Given the description of an element on the screen output the (x, y) to click on. 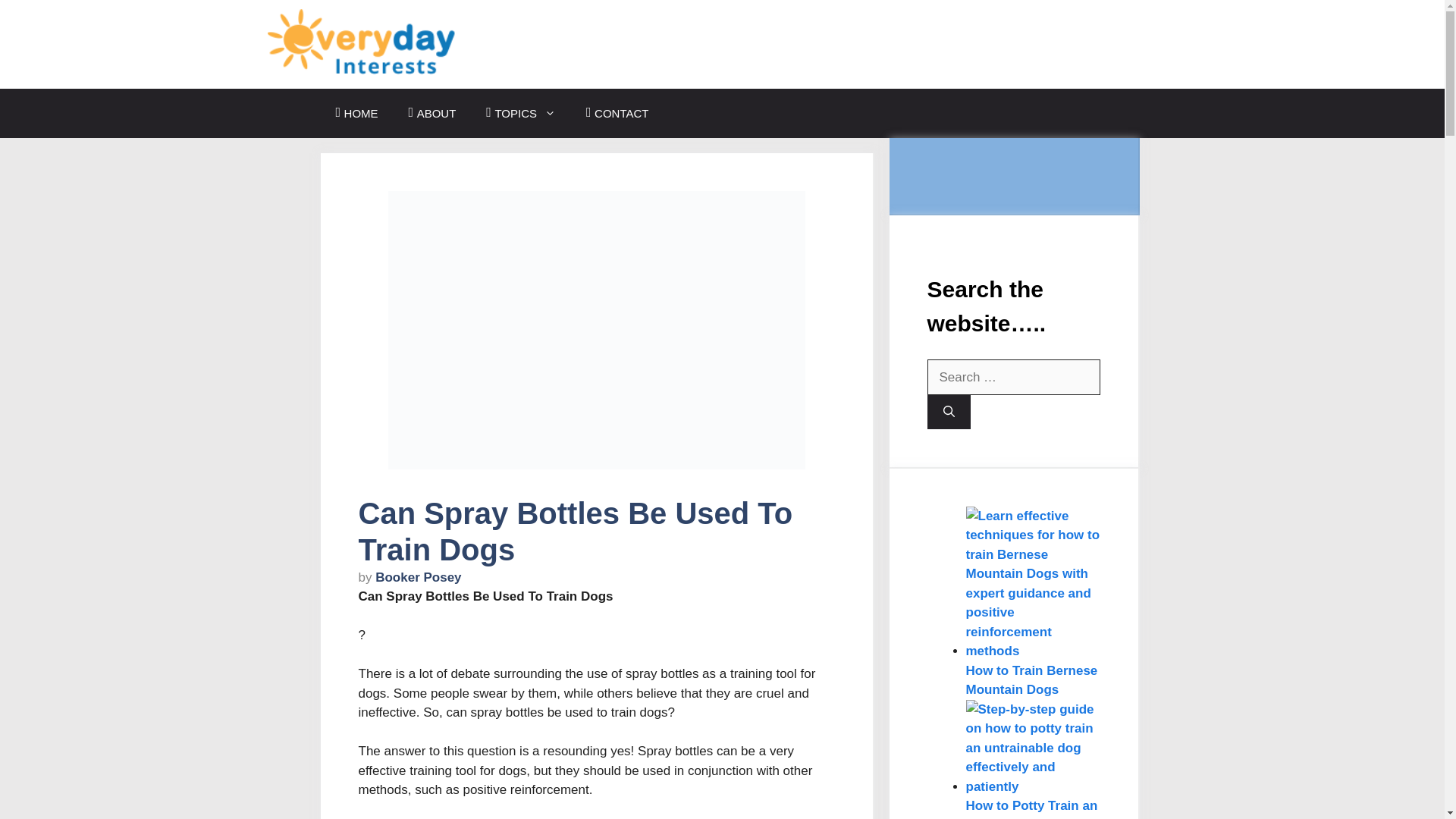
ABOUT (432, 113)
TOPICS (520, 113)
Booker Posey (418, 577)
Can Spray Bottles Be Used To Train Dogs 1 (596, 329)
View all posts by Booker Posey (418, 577)
HOME (356, 113)
CONTACT (616, 113)
